Given the description of an element on the screen output the (x, y) to click on. 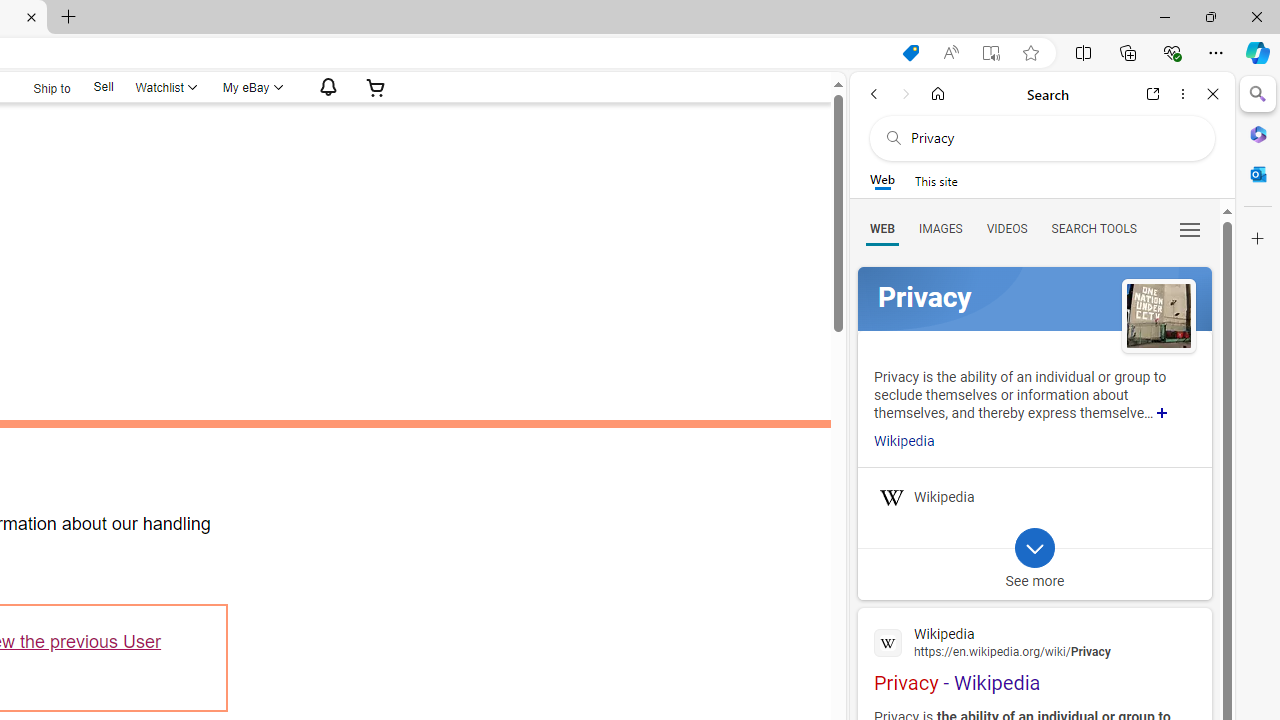
Search Filter, Search Tools (1093, 228)
VIDEOS (1006, 228)
This site has coupons! Shopping in Microsoft Edge (910, 53)
Web scope (882, 180)
Search Filter, VIDEOS (1006, 228)
This site scope (936, 180)
Search Filter, WEB (882, 228)
Sell (102, 86)
WEB   (882, 228)
Search the web (1051, 137)
